Given the description of an element on the screen output the (x, y) to click on. 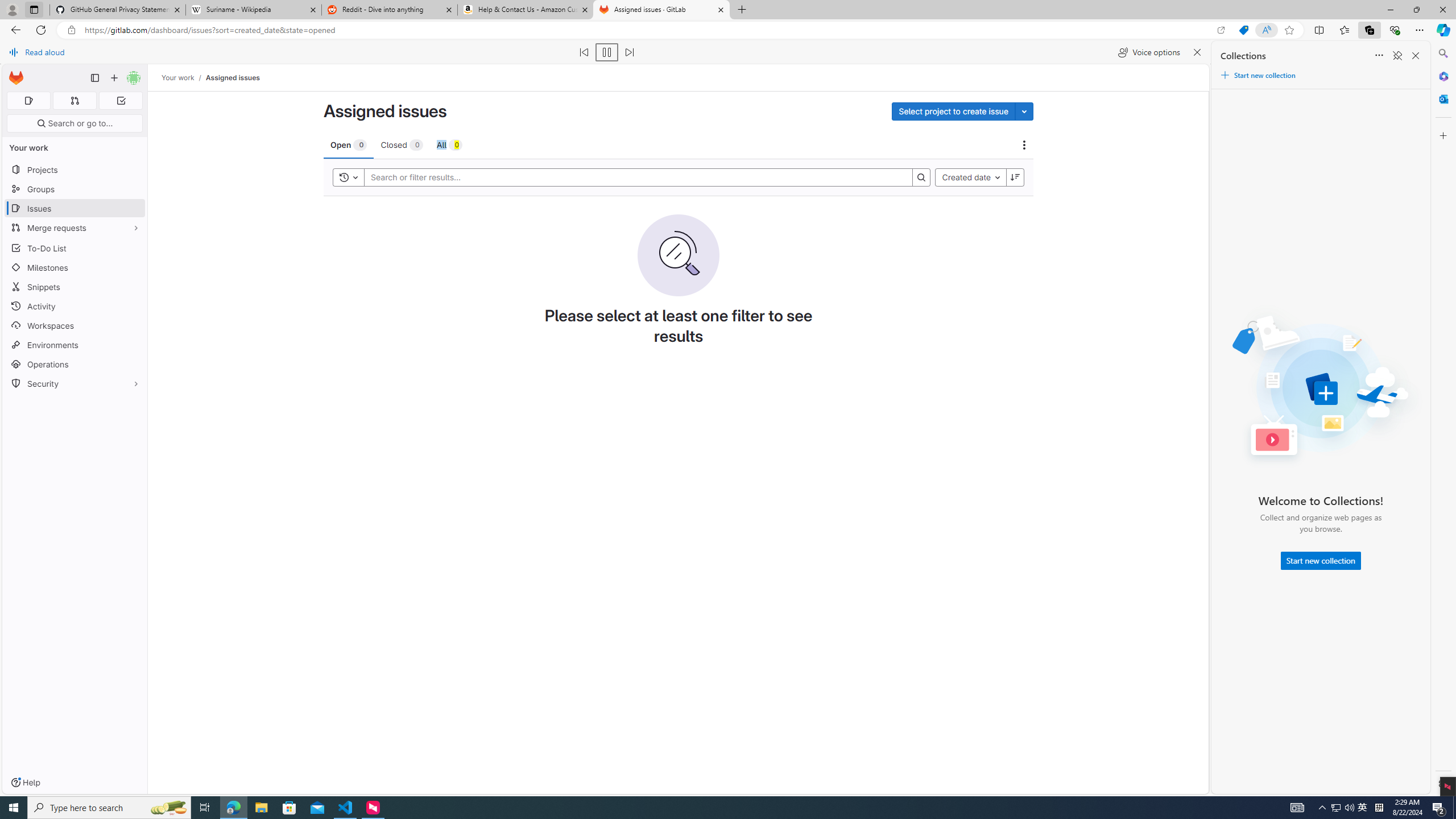
Merge requests (74, 227)
Actions (1023, 144)
To-Do List (74, 248)
Pause read aloud (Ctrl+Shift+U) (606, 52)
Open in app (1220, 29)
Close read aloud (1196, 52)
To-Do list 0 (120, 100)
Toggle project select (1023, 110)
Environments (74, 344)
Issues (74, 208)
Select project to create issue (952, 110)
Groups (74, 188)
Toggle history (348, 176)
